Given the description of an element on the screen output the (x, y) to click on. 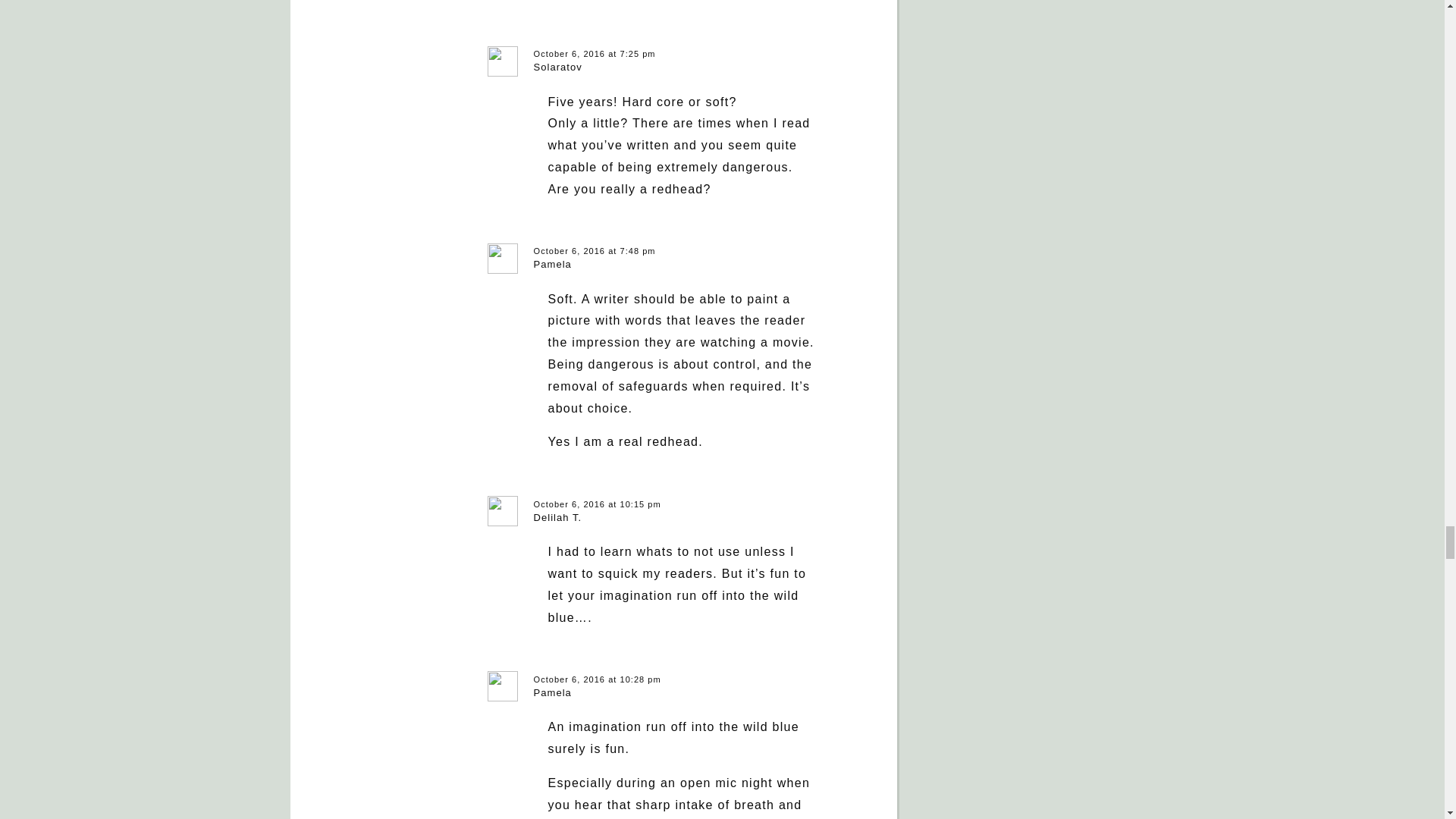
Delilah T. (558, 517)
